Given the description of an element on the screen output the (x, y) to click on. 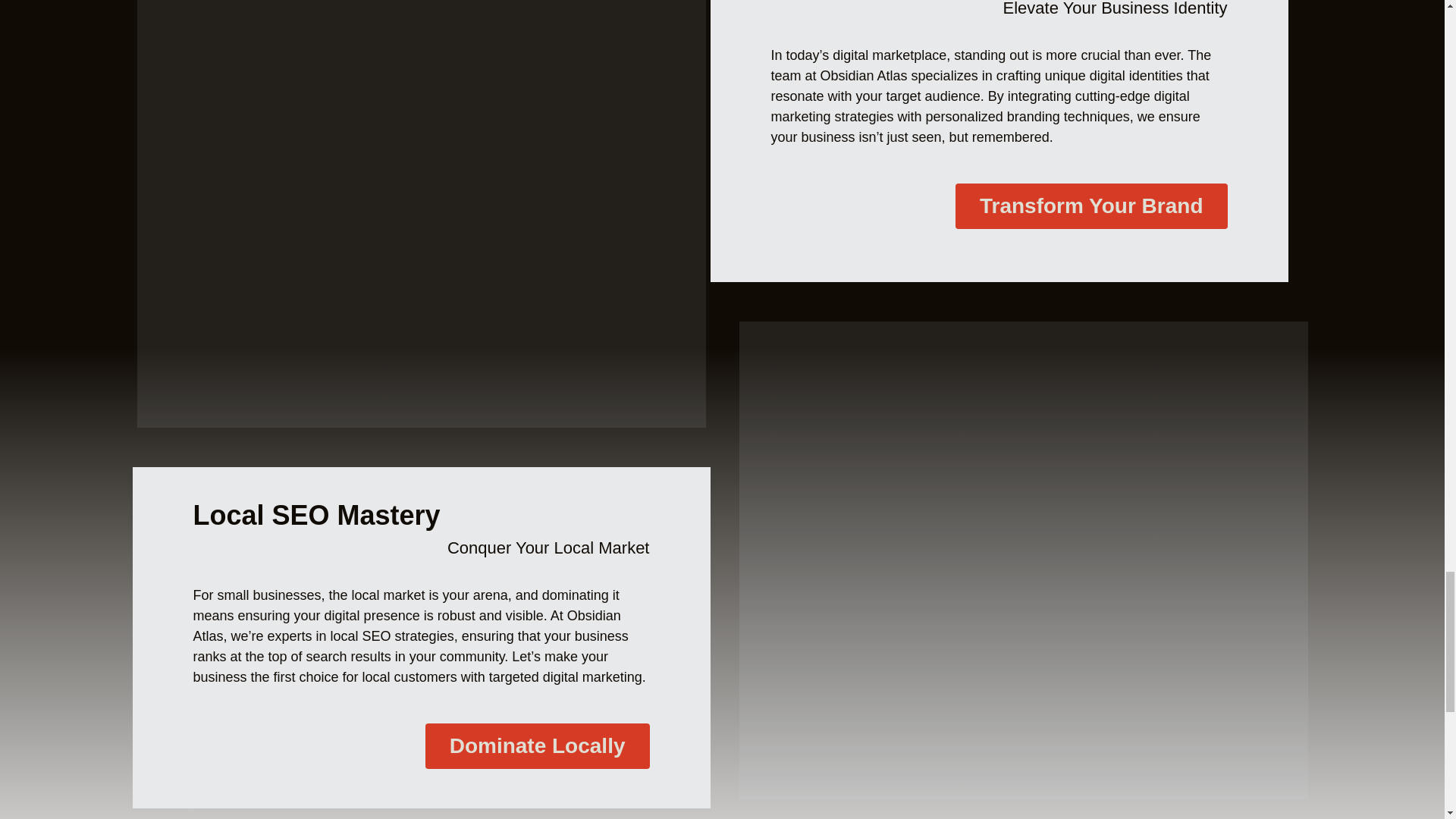
Dominate Locally (537, 746)
Transform Your Brand (1091, 206)
